Given the description of an element on the screen output the (x, y) to click on. 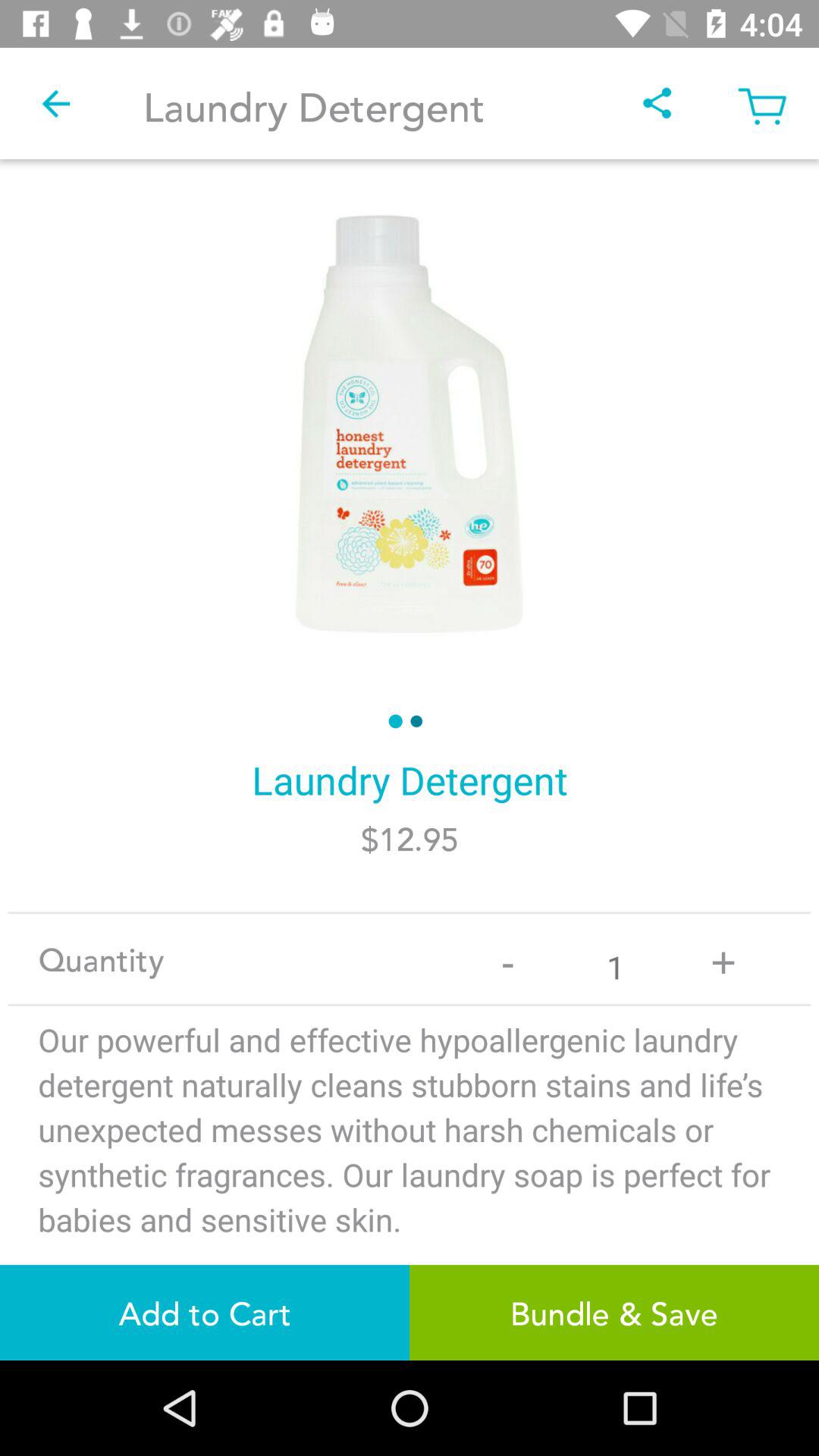
choose the icon to the left of the laundry detergent item (55, 103)
